Given the description of an element on the screen output the (x, y) to click on. 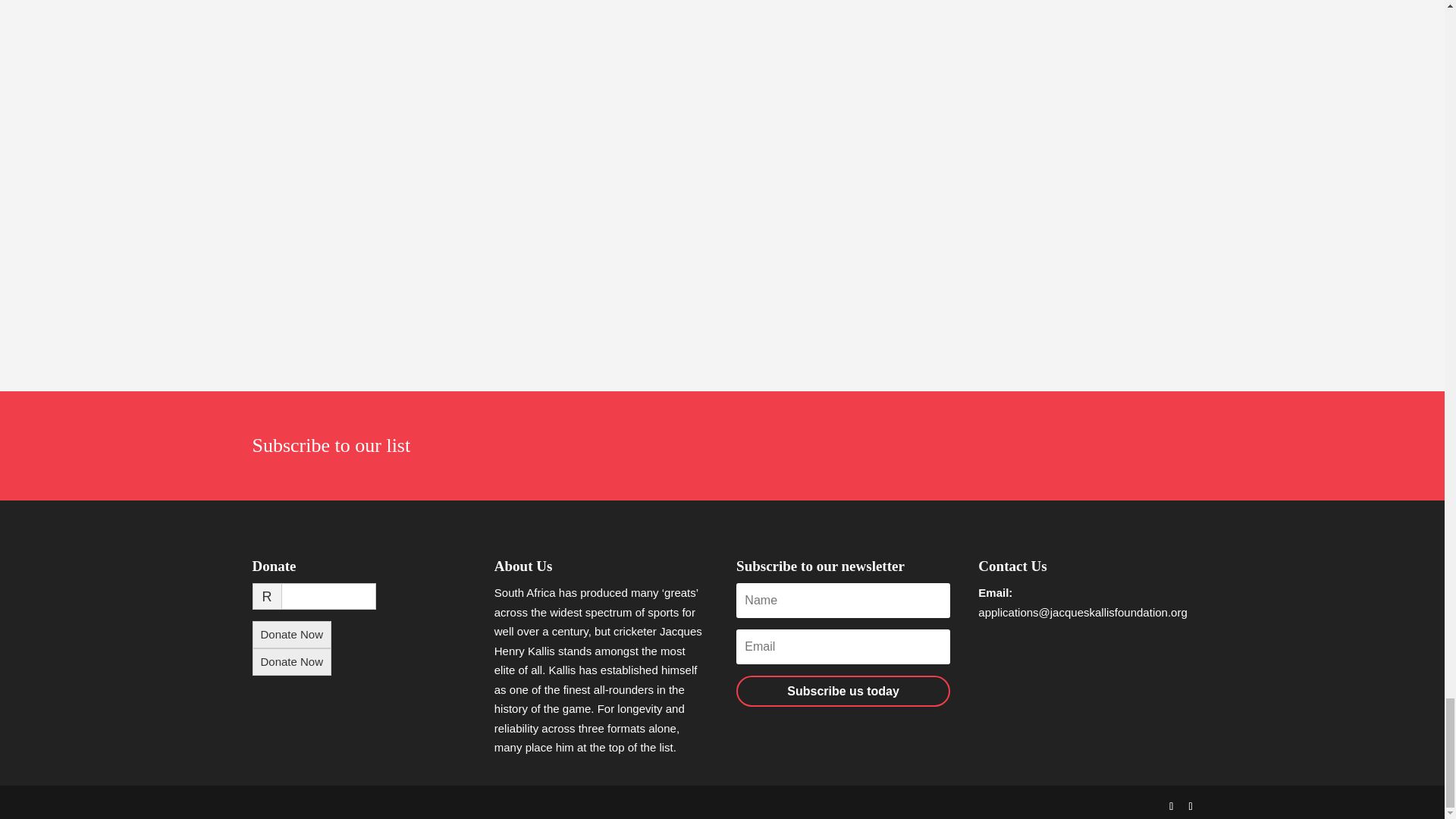
Donate Now (291, 661)
Donate Now (291, 634)
Subscribe us today (843, 690)
Donate Now (291, 661)
